Given the description of an element on the screen output the (x, y) to click on. 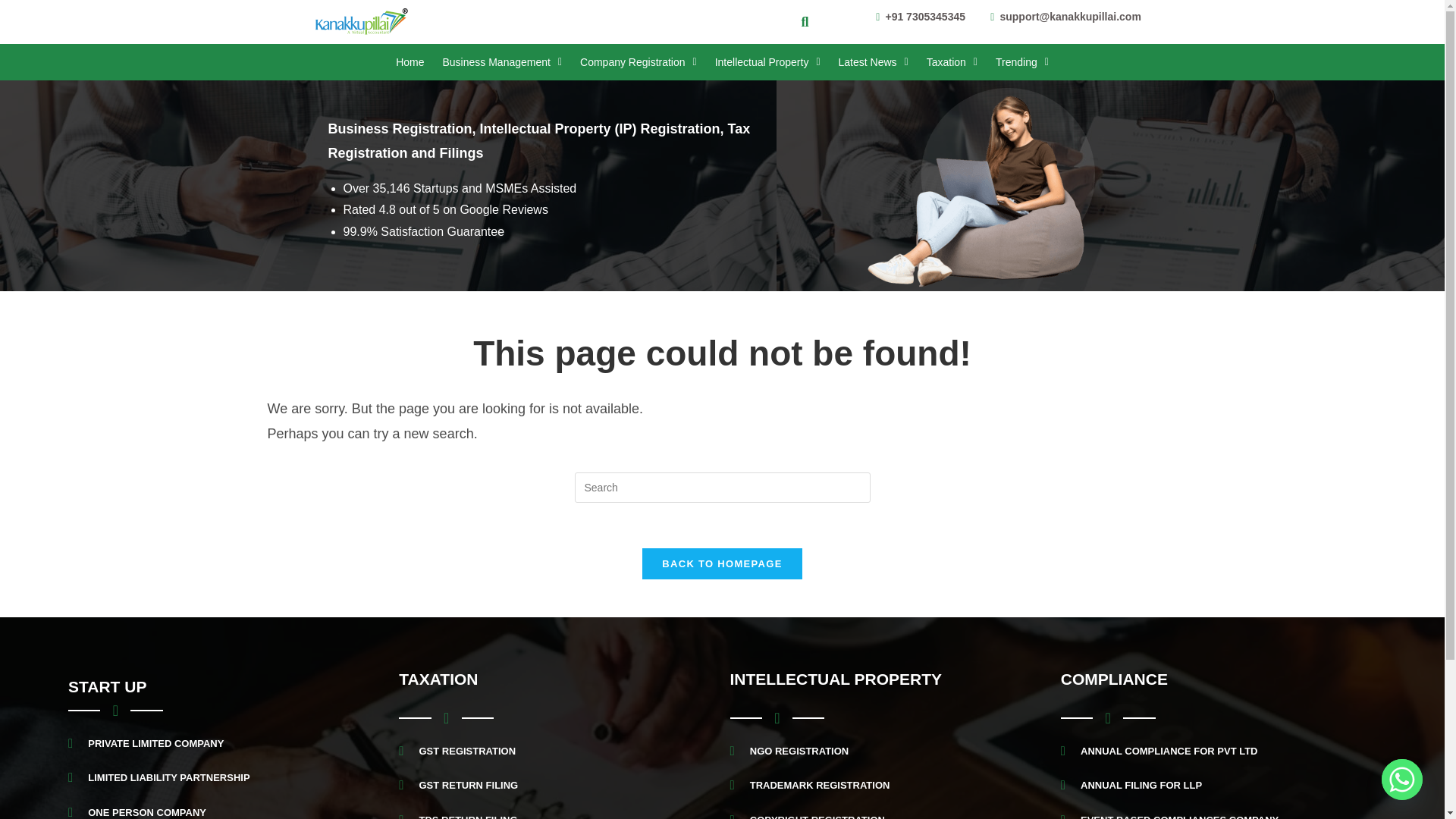
Taxation (952, 61)
Search (798, 22)
Company Registration (638, 61)
Intellectual Property (767, 61)
Business Management (501, 61)
Latest News (873, 61)
Home (409, 61)
